Given the description of an element on the screen output the (x, y) to click on. 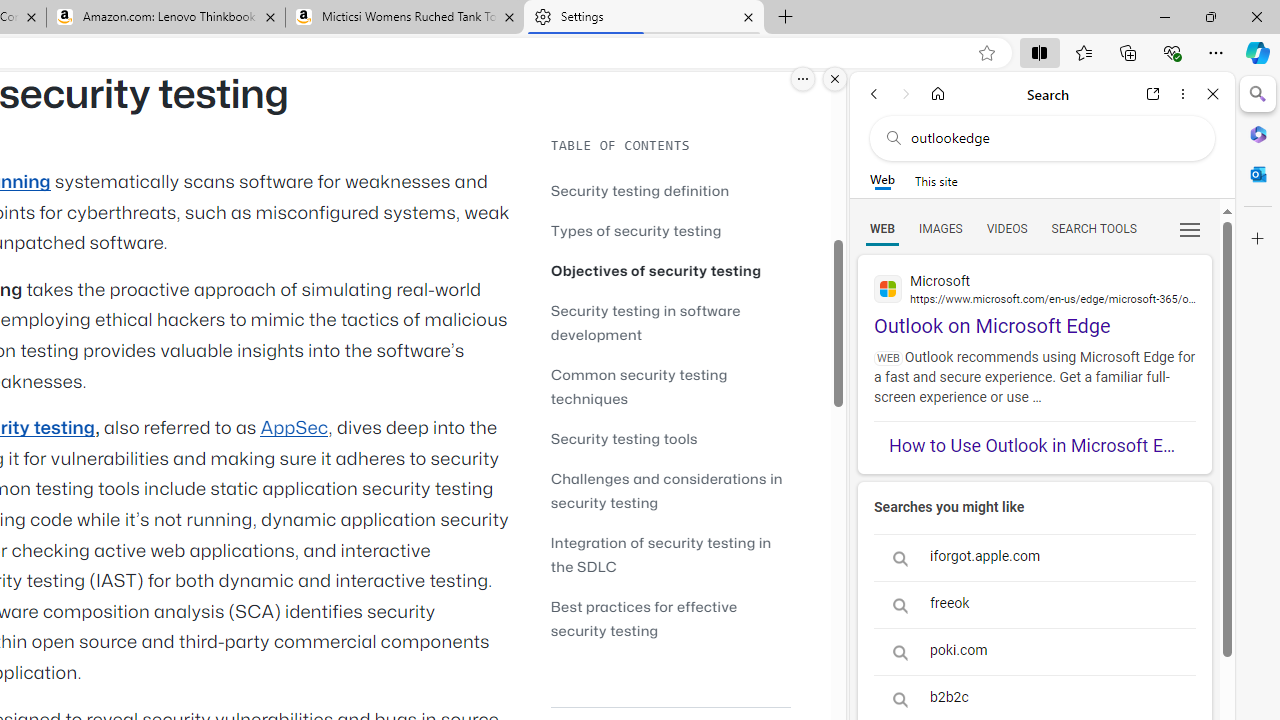
Challenges and considerations in security testing (666, 490)
More options. (803, 79)
Best practices for effective security testing (670, 618)
iforgot.apple.com (1034, 557)
Integration of security testing in the SDLC (660, 554)
Challenges and considerations in security testing (670, 489)
Integration of security testing in the SDLC (670, 553)
Security testing definition (670, 190)
